Given the description of an element on the screen output the (x, y) to click on. 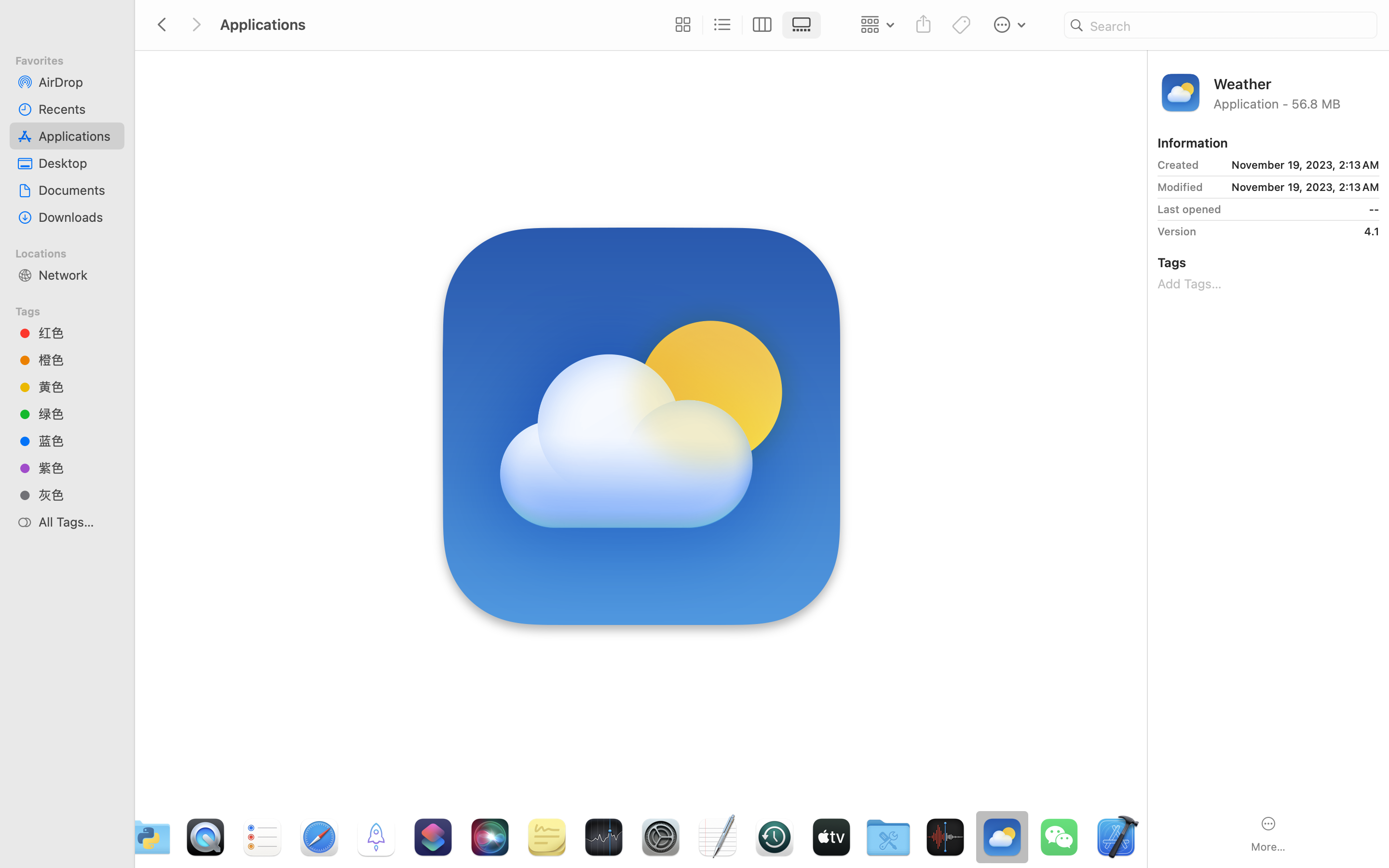
Version Element type: AXStaticText (1176, 231)
Last opened Element type: AXStaticText (1189, 209)
Information Element type: AXStaticText (1192, 142)
Tags… Element type: AXStaticText (20, 860)
Network Element type: AXStaticText (77, 274)
